Given the description of an element on the screen output the (x, y) to click on. 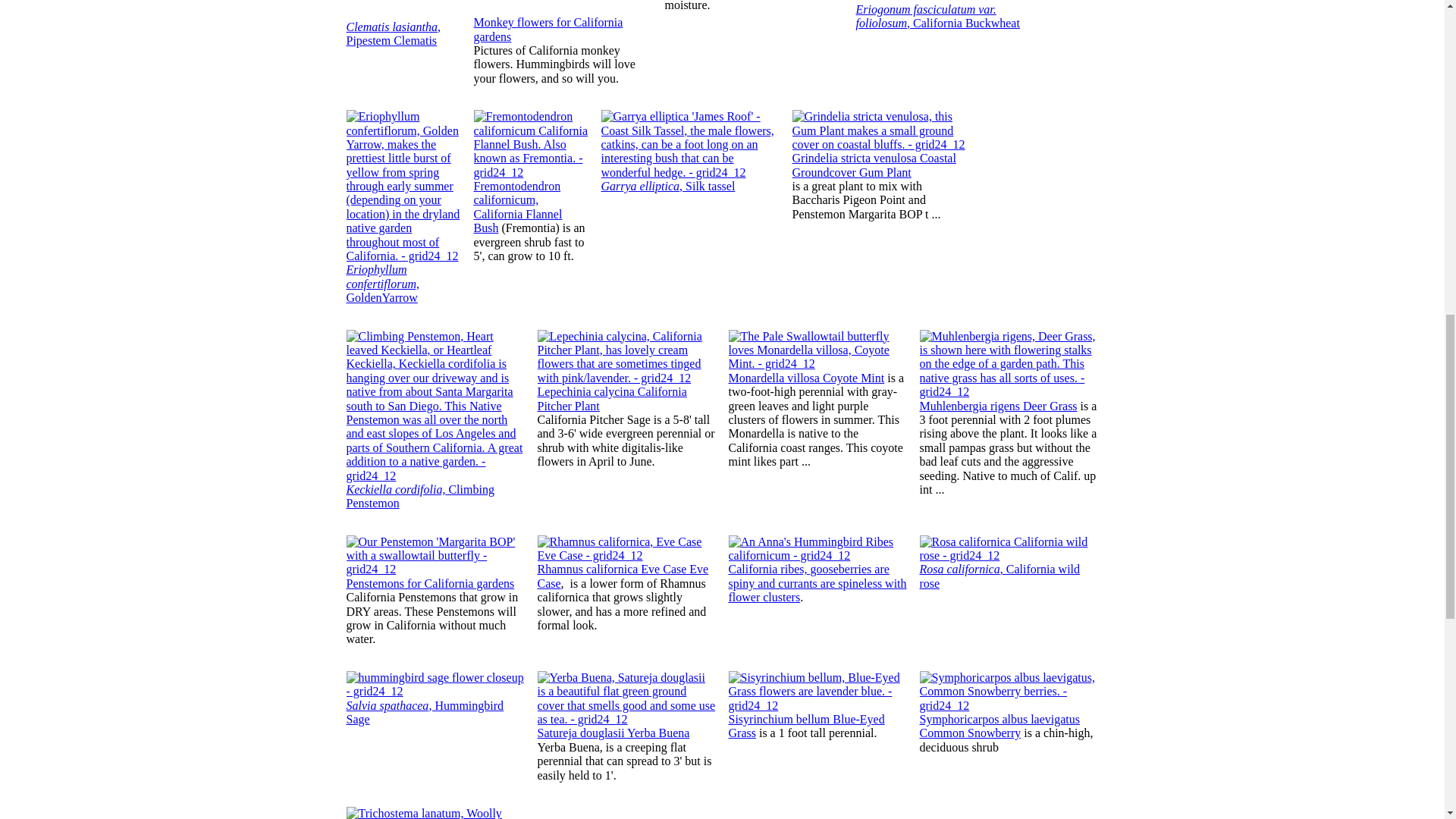
Grindelia stricta venulosa Coastal Groundcover Gum Plant (873, 164)
Monkey flowers for California gardens (548, 28)
Eriophyllum confertiflorum, GoldenYarrow (382, 282)
Eriogonum fasciculatum var. foliolosum, California Buckwheat (937, 23)
Clematis lasiantha, Pipestem Clematis (392, 33)
Fremontodendron californicum, California Flannel Bush (517, 206)
Garrya elliptica, Silk tassel (667, 185)
